Given the description of an element on the screen output the (x, y) to click on. 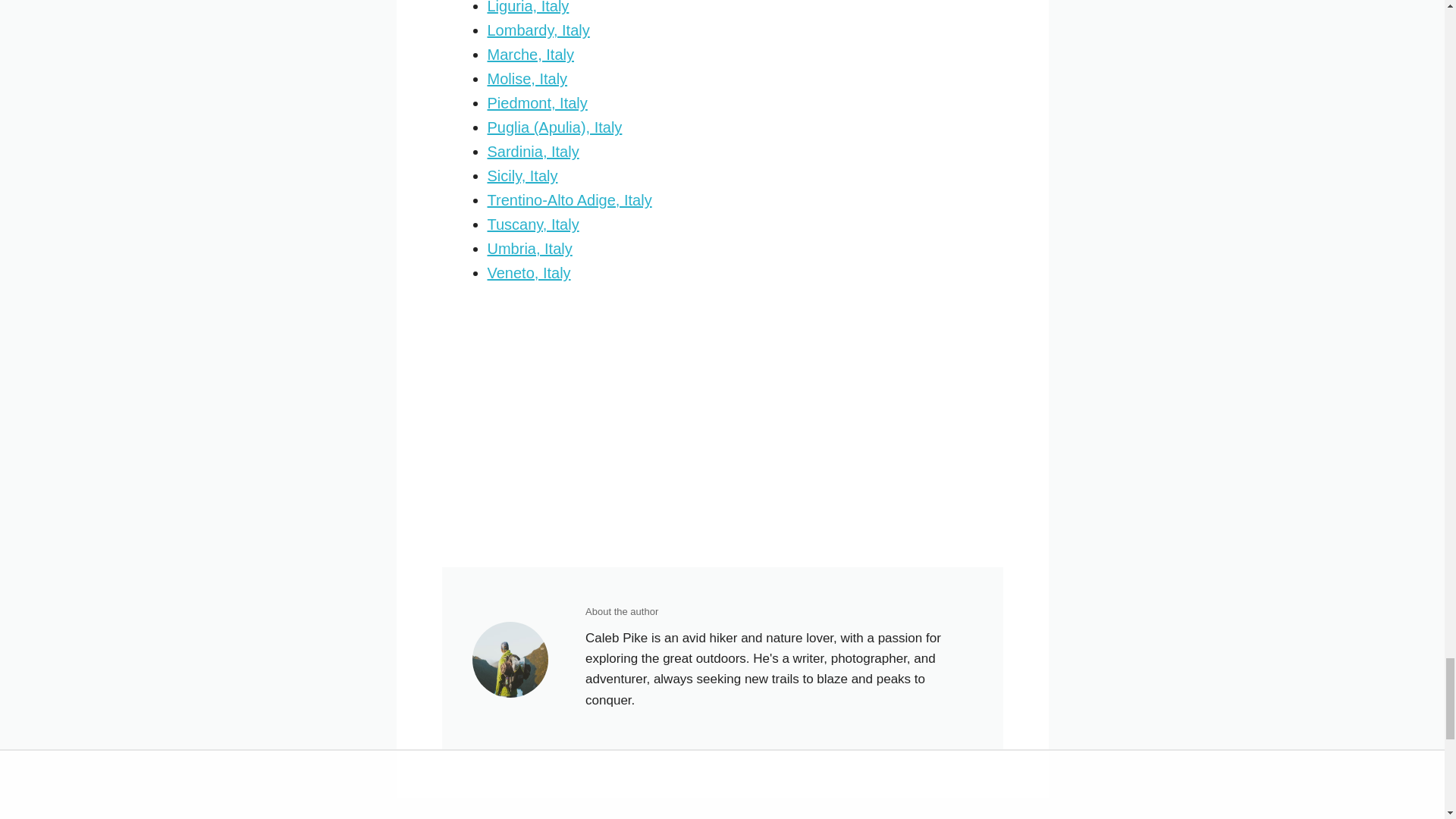
Molise, Italy (526, 78)
Marche, Italy (529, 54)
Sicily, Italy (521, 175)
Piedmont, Italy (536, 103)
Caleb Pike (509, 659)
Lombardy, Italy (537, 30)
Umbria, Italy (529, 248)
Sardinia, Italy (532, 151)
Liguria, Italy (527, 7)
Trentino-Alto Adige, Italy (568, 199)
